Given the description of an element on the screen output the (x, y) to click on. 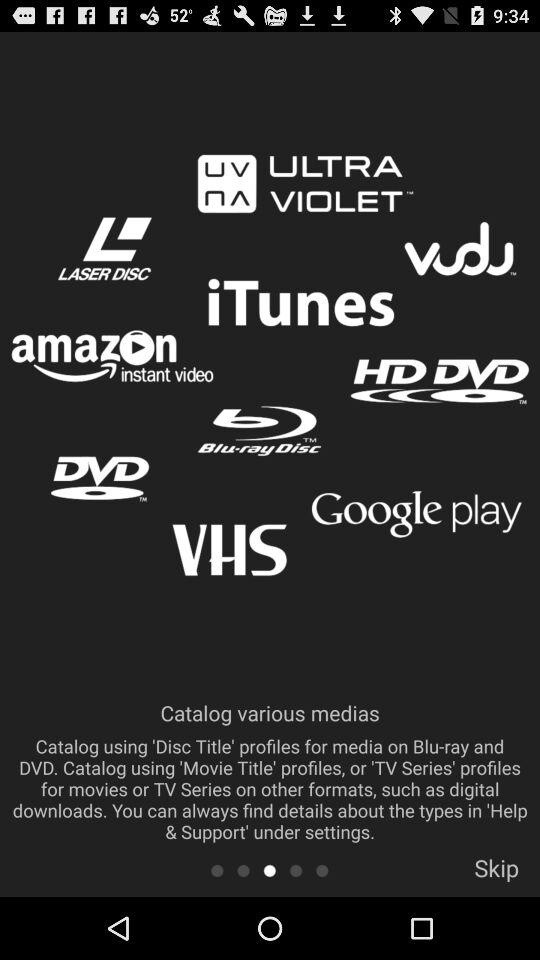
click icon below the catalog various medias icon (295, 870)
